Given the description of an element on the screen output the (x, y) to click on. 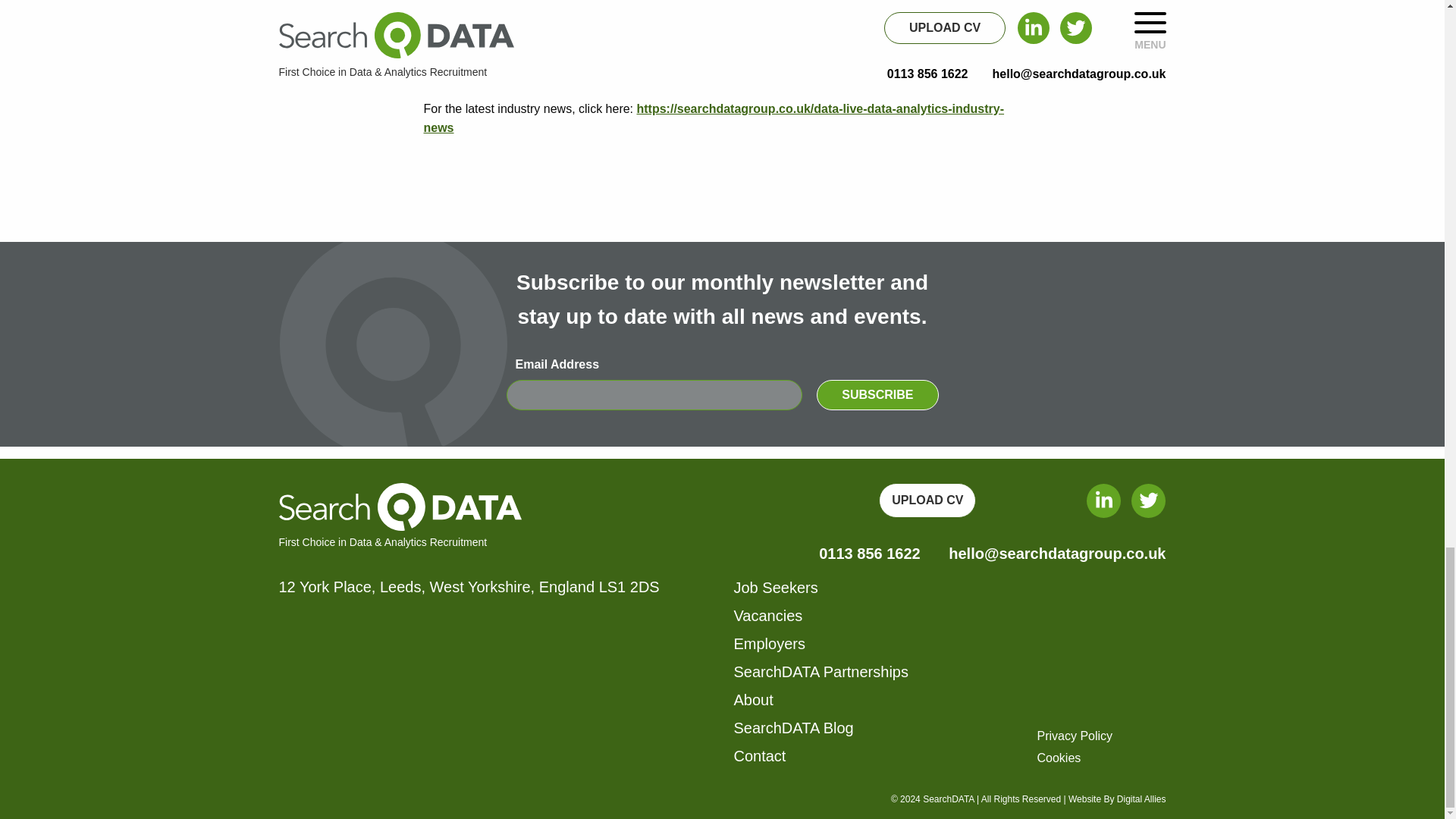
0113 856 1622 (869, 553)
Contact (759, 755)
UPLOAD CV (927, 499)
Privacy Policy (1074, 735)
Employers (769, 643)
Cookies (1058, 757)
SearchDATA Blog (793, 727)
Website By Digital Allies (1117, 798)
Job Seekers (775, 587)
About (753, 699)
Subscribe (876, 395)
SearchDATA Partnerships (820, 671)
Vacancies (768, 615)
Subscribe (876, 395)
